Given the description of an element on the screen output the (x, y) to click on. 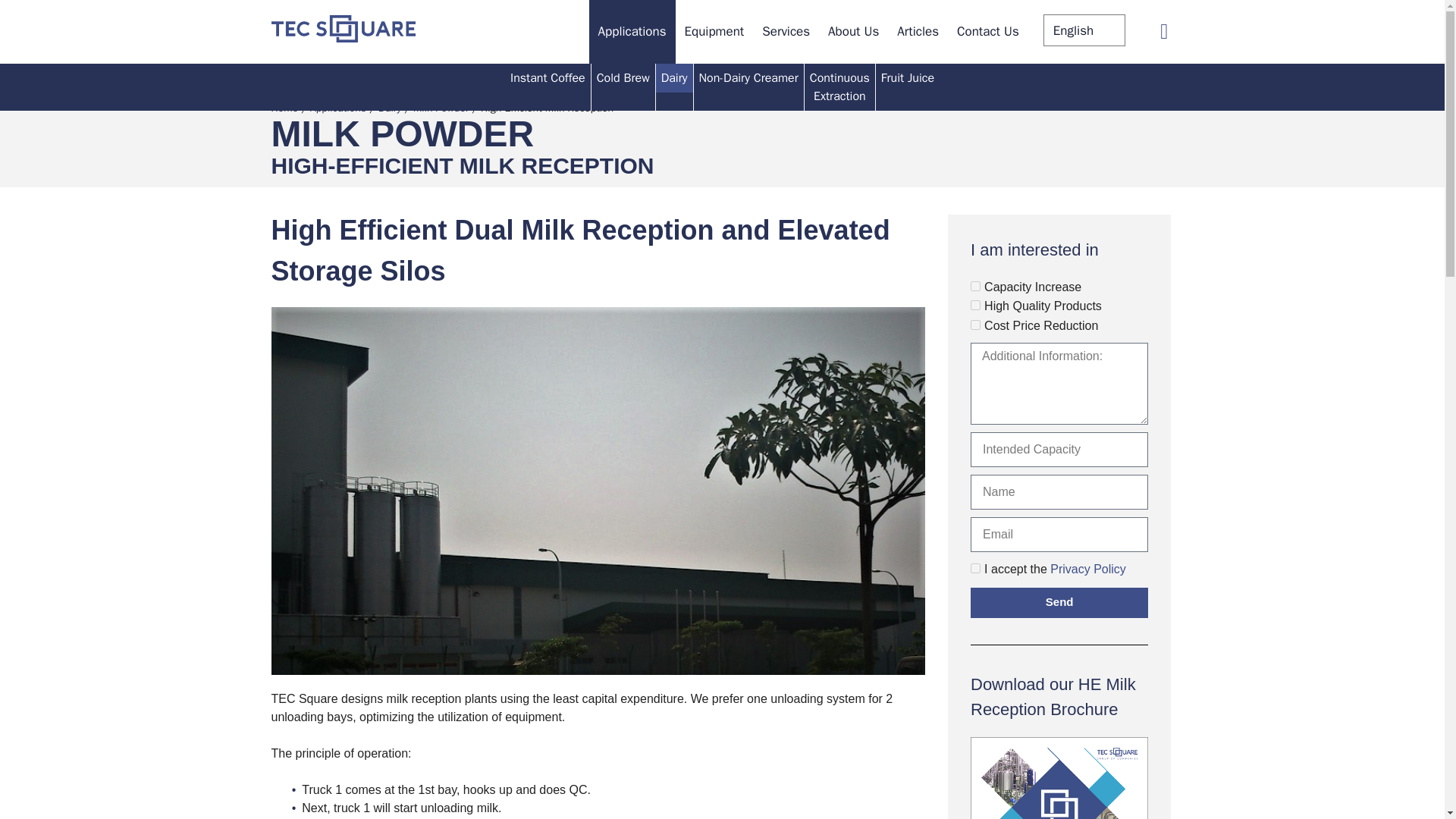
Cost Price Reduction (975, 325)
TEC Square (342, 29)
Fruit Juice (907, 77)
Capacity Increase (975, 285)
Dairy (674, 77)
Instant Coffee (548, 77)
Cold Brew (623, 77)
on (975, 568)
TEC Square (342, 37)
